Given the description of an element on the screen output the (x, y) to click on. 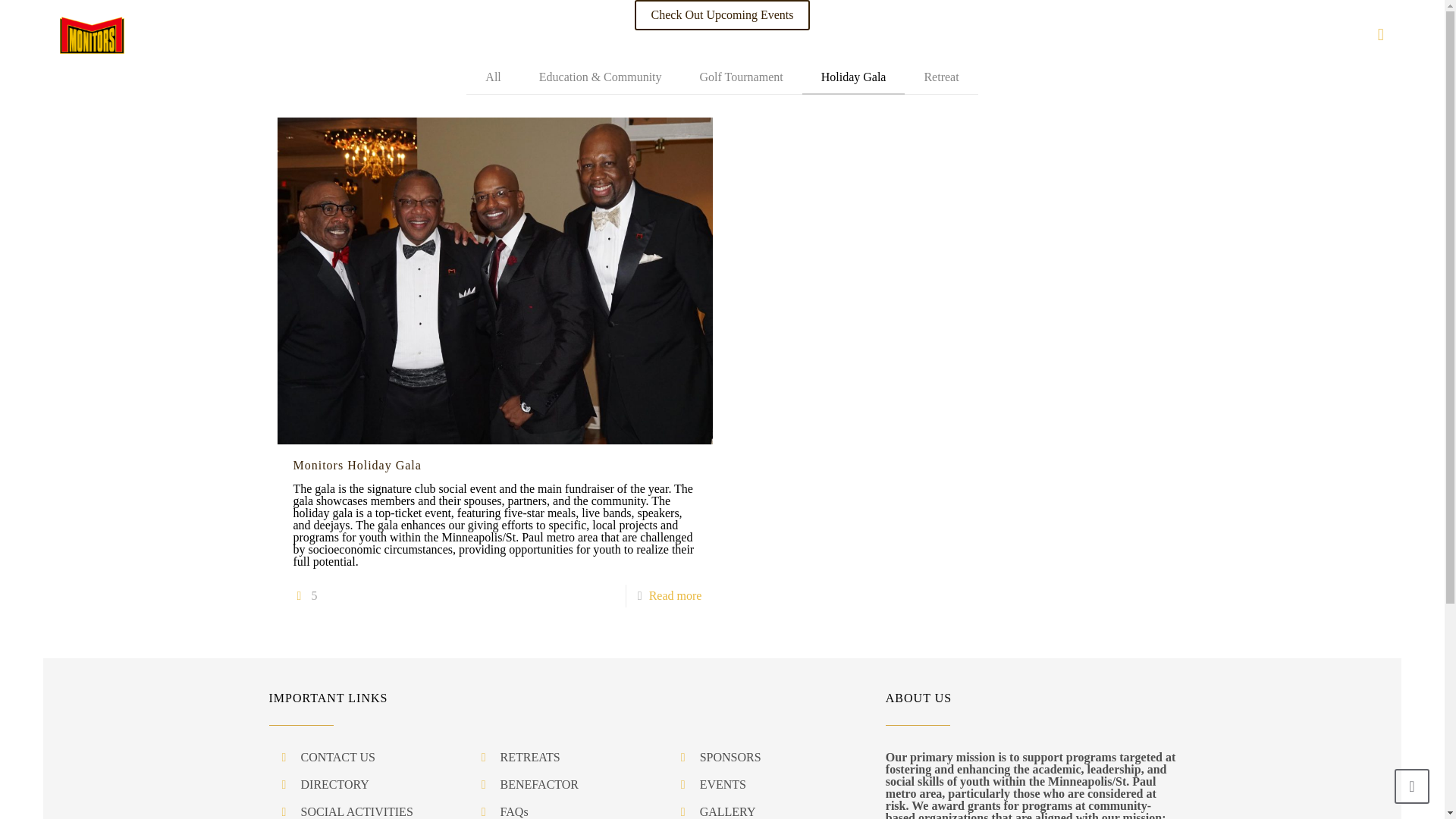
Monitors Holiday Gala (356, 464)
5 (304, 595)
Holiday Gala (853, 77)
Retreat (940, 77)
The Monitors Club (91, 34)
Golf Tournament (741, 77)
All (492, 77)
Check Out Upcoming Events (722, 15)
Read more (675, 594)
